Given the description of an element on the screen output the (x, y) to click on. 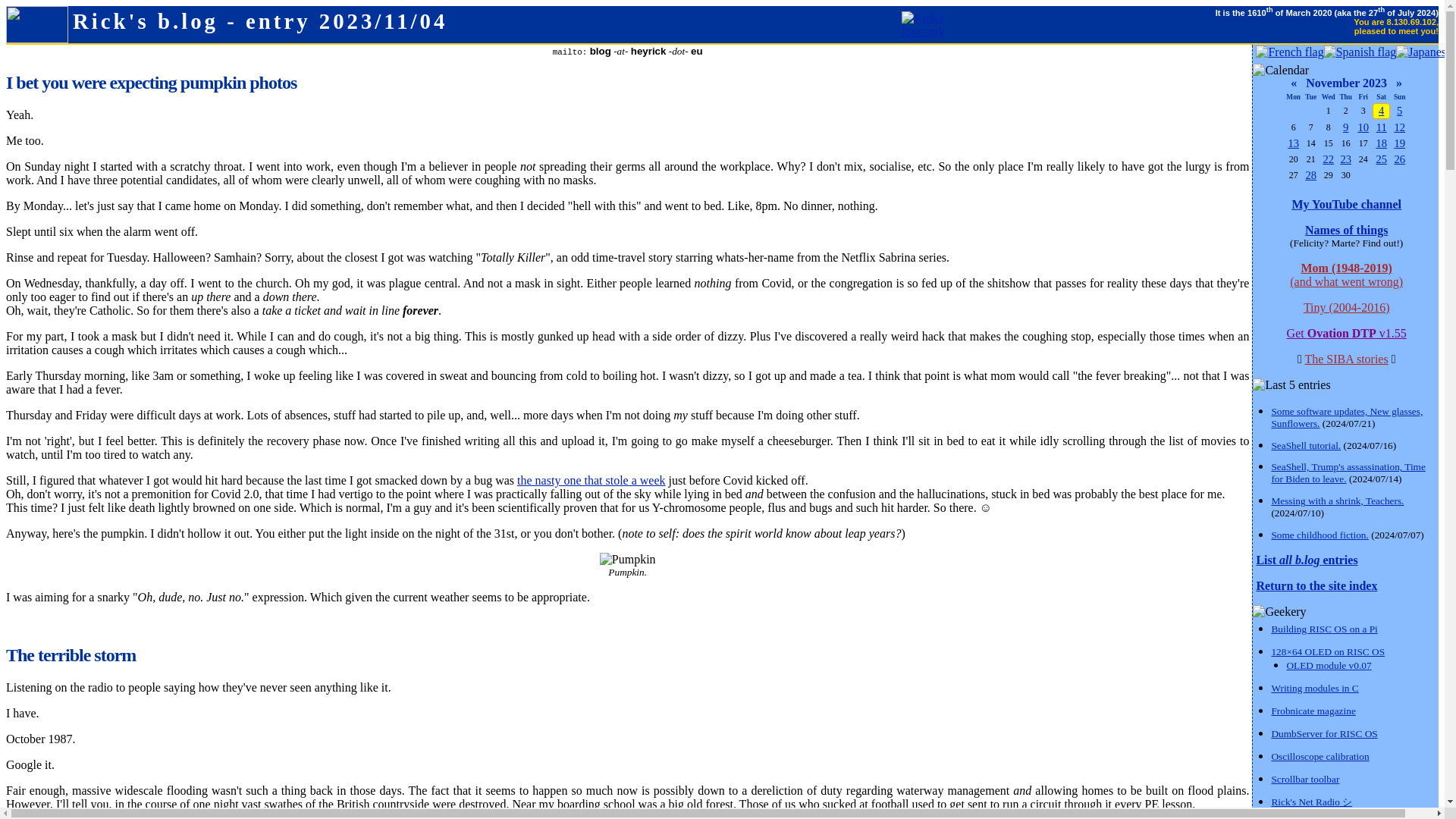
23 (1345, 159)
25 (1381, 159)
The lost future, Lonely people die first. (1362, 127)
18 (1381, 143)
4 (1381, 110)
Some software updates, New glasses, Sunflowers. (1346, 417)
28 (1310, 174)
I survived!, Afterwards, Fast food from a machine. (1310, 174)
13 (1292, 143)
10 (1362, 127)
Unreal humans. (1327, 159)
Names of things (1345, 229)
Inside a USB DVD player. (1345, 159)
The SIBA stories (1345, 358)
